Given the description of an element on the screen output the (x, y) to click on. 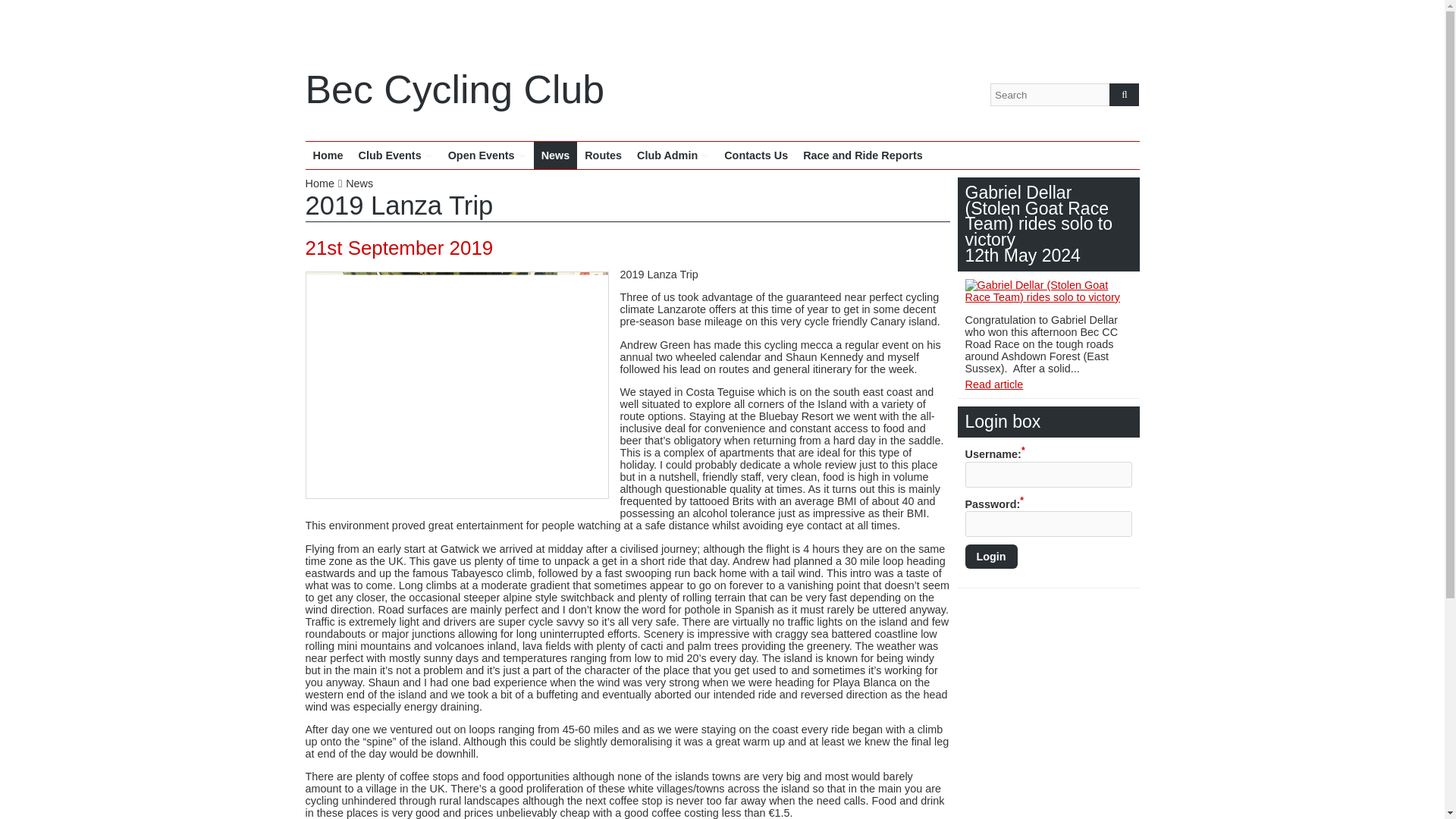
Home (327, 154)
Club Events (394, 154)
Bec Cycling Club homepage (327, 154)
Open Events (487, 154)
Race and Ride Reports (862, 154)
News (359, 183)
Home (325, 183)
News (556, 154)
Bec Cycling Club homepage (325, 183)
Club Admin (672, 154)
News (359, 183)
Routes (602, 154)
Contacts Us (755, 154)
Login (989, 556)
Read article (993, 384)
